Given the description of an element on the screen output the (x, y) to click on. 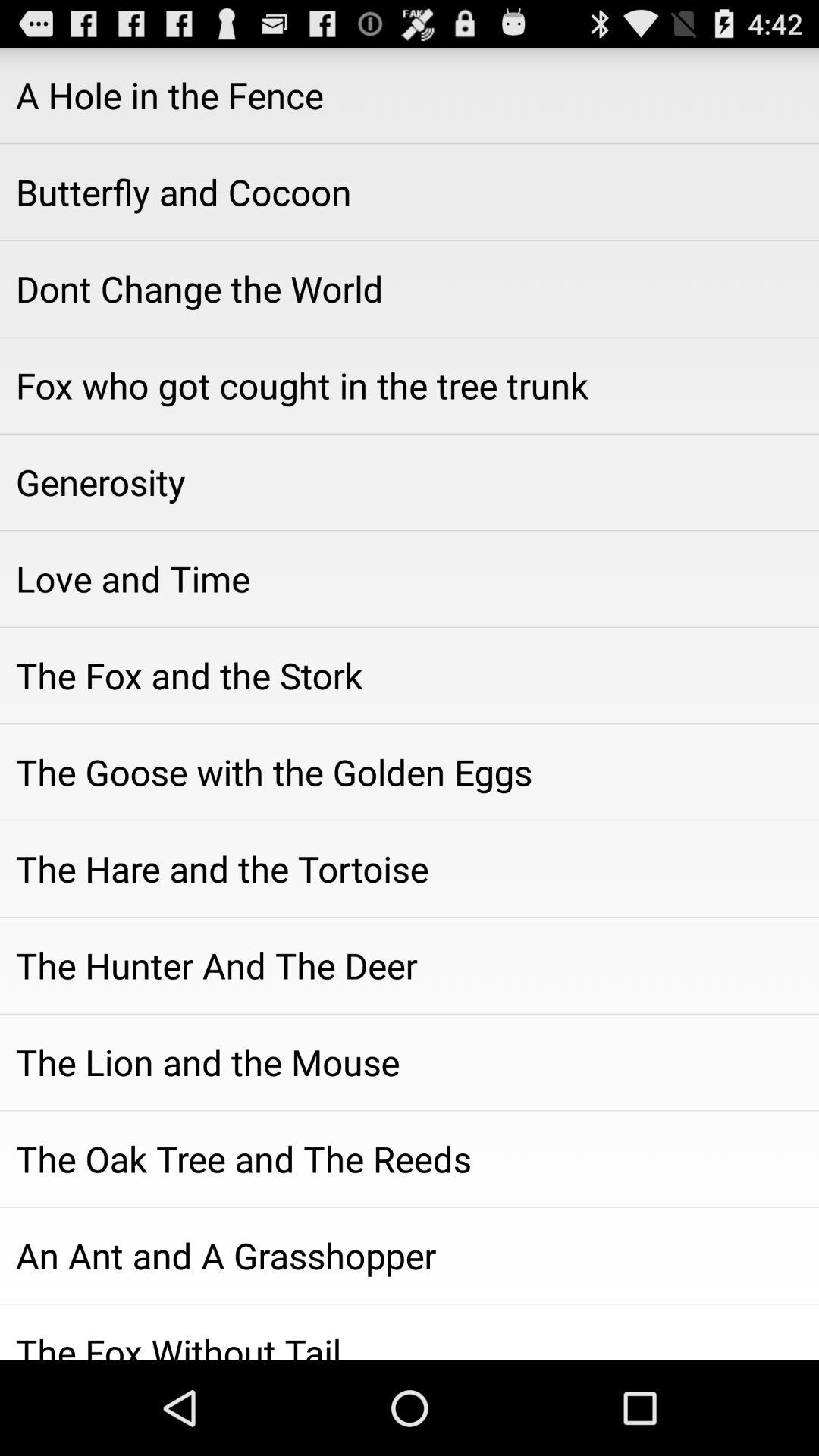
select app above the hare and icon (409, 772)
